Given the description of an element on the screen output the (x, y) to click on. 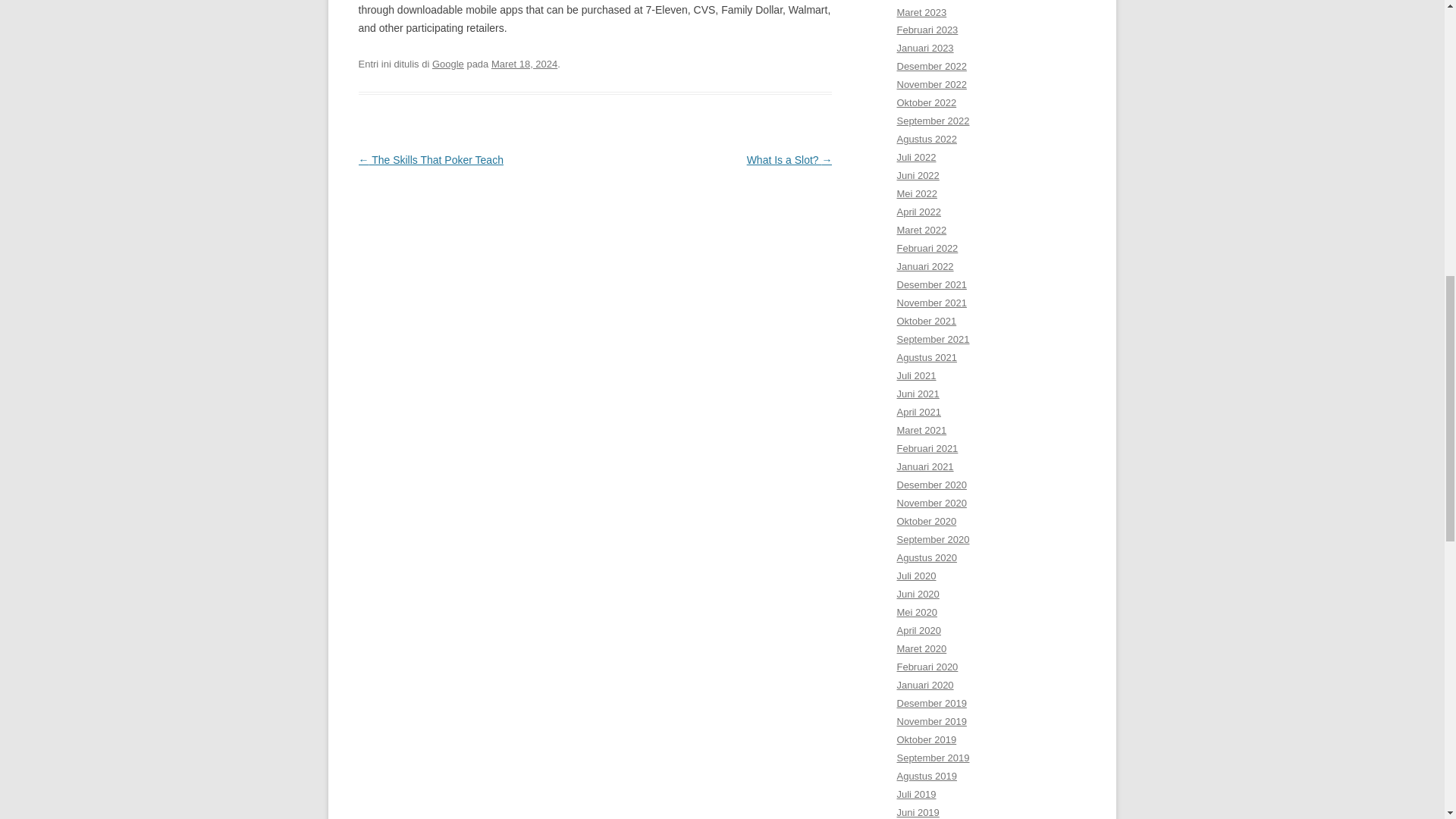
Google (448, 63)
8:10 am (524, 63)
Maret 18, 2024 (524, 63)
